Given the description of an element on the screen output the (x, y) to click on. 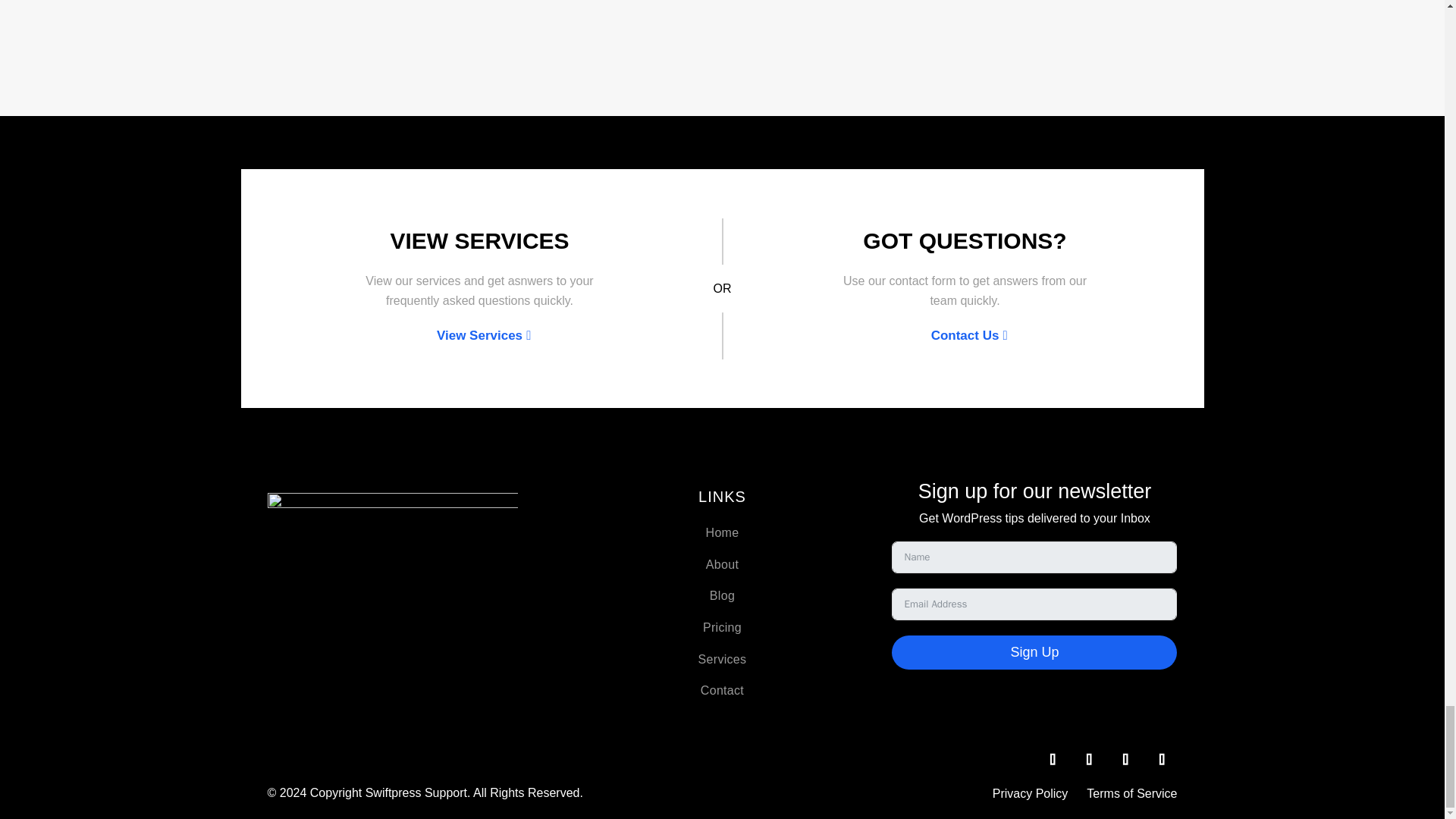
Follow on Facebook (1124, 758)
Contact Us (964, 336)
Follow on X (1051, 758)
Comment Form (722, 5)
Blog (722, 594)
Follow on Instagram (1161, 758)
About (722, 563)
Home (722, 532)
View Services (479, 336)
Follow on Youtube (1088, 758)
